Given the description of an element on the screen output the (x, y) to click on. 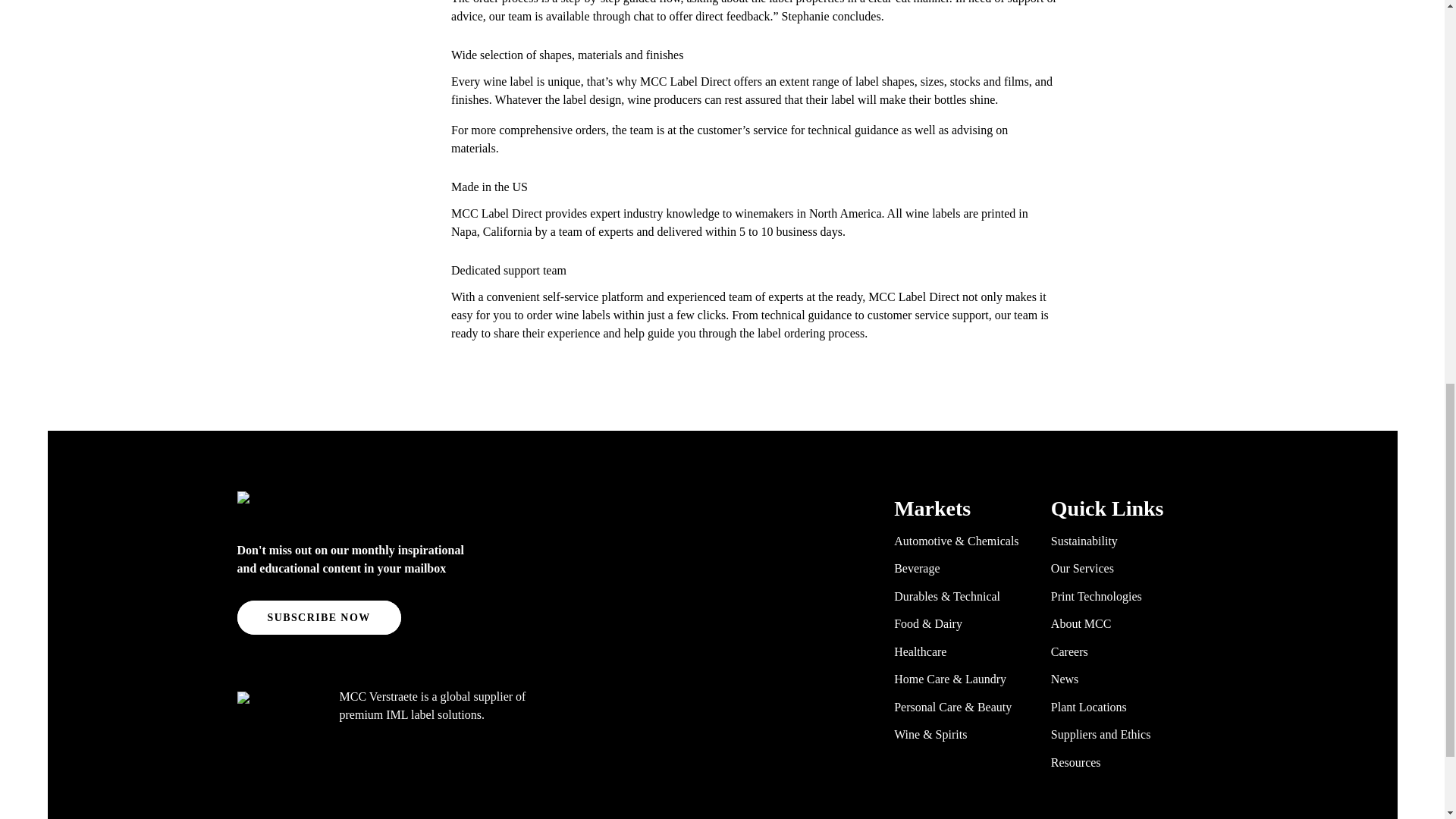
Print (105, 1)
SUBSCRIBE NOW (317, 617)
Beverage (916, 567)
Healthcare (919, 650)
Main Footer Navigation (1050, 636)
Sustainability (1084, 540)
Back to Home (372, 506)
